Given the description of an element on the screen output the (x, y) to click on. 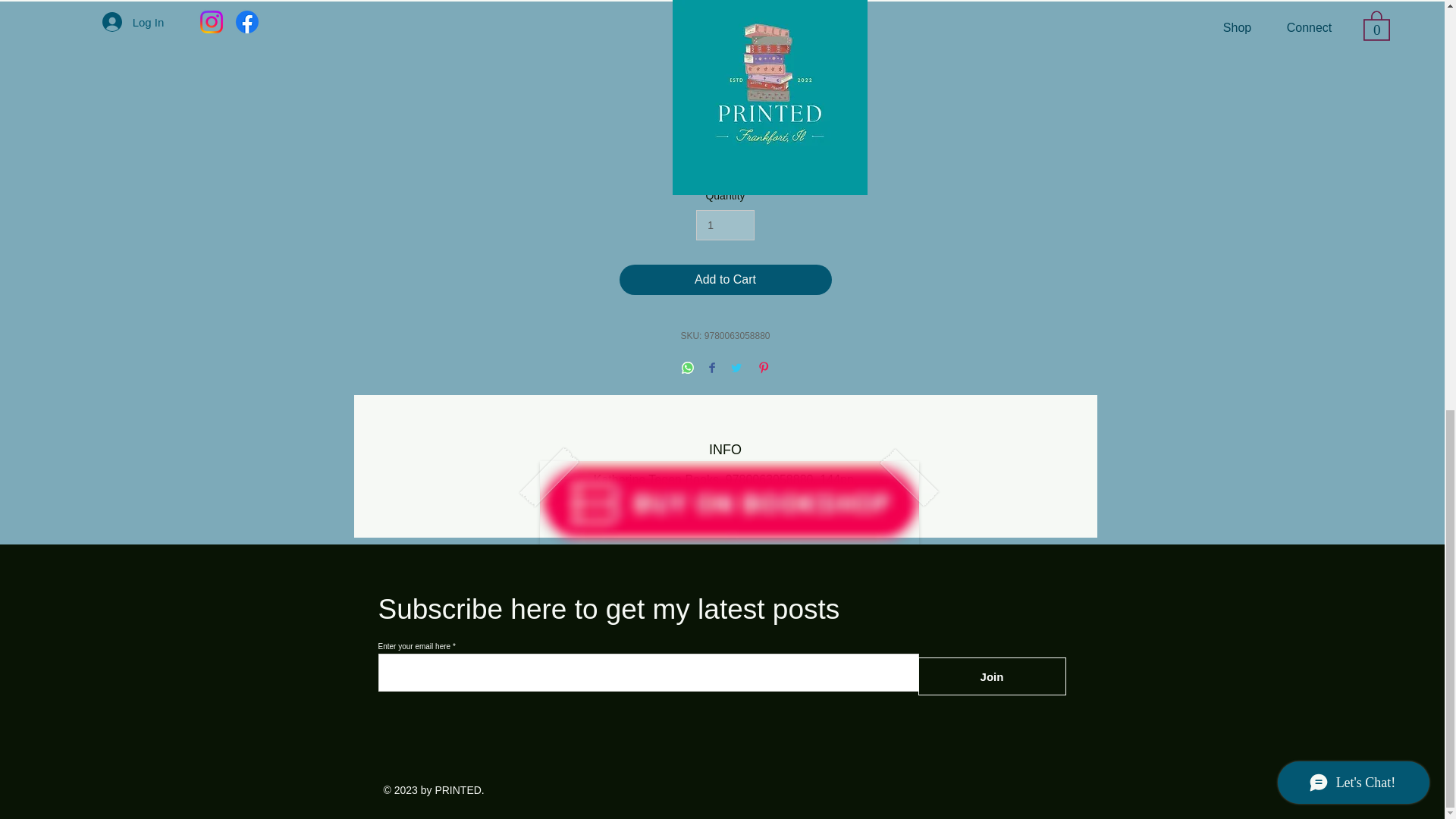
Add to Cart (724, 279)
bookshoplink.png (729, 502)
Read more (725, 165)
1 (724, 224)
Join (991, 676)
